Given the description of an element on the screen output the (x, y) to click on. 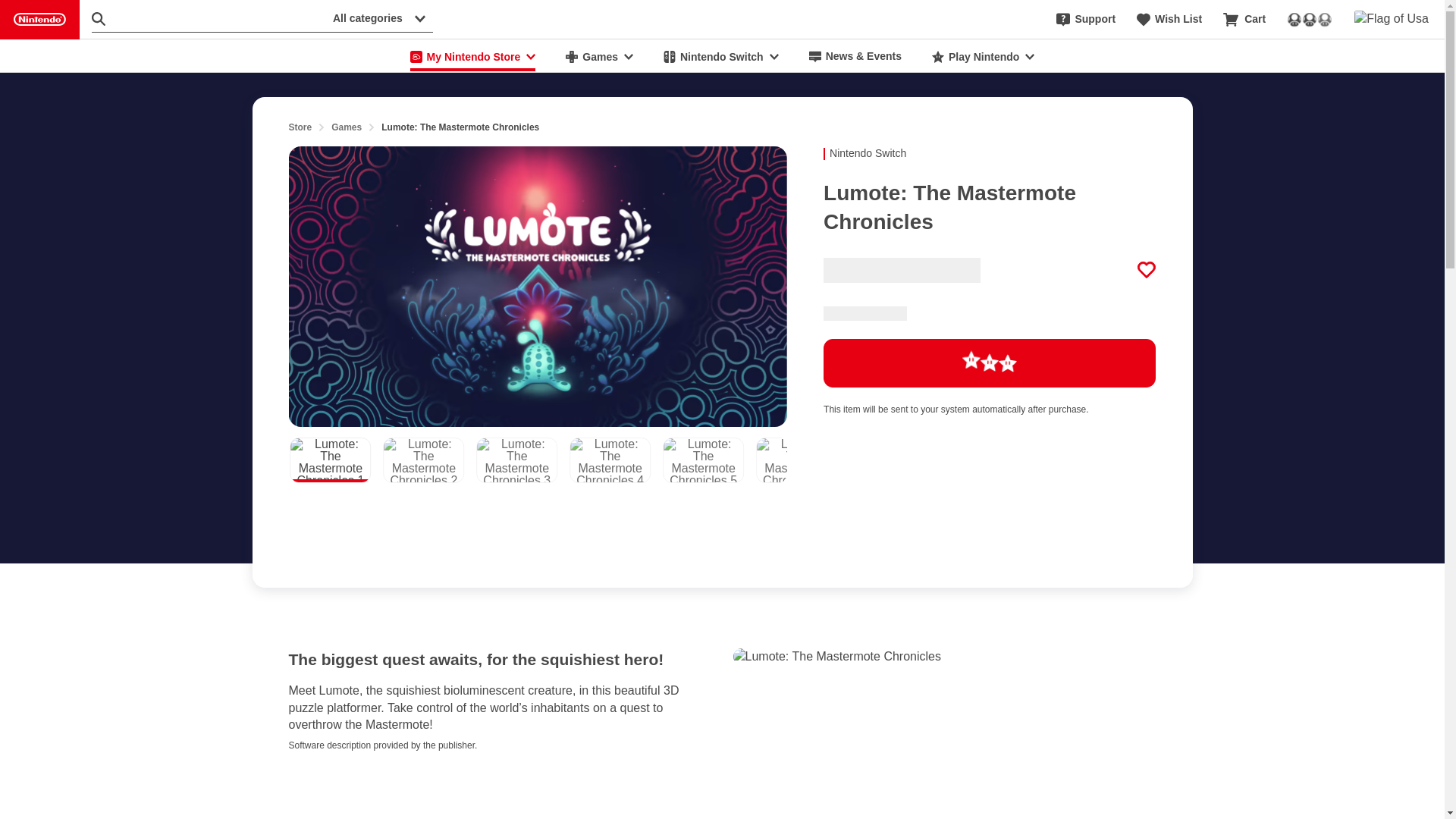
Games (346, 127)
Wish List (1169, 19)
Loading (990, 363)
Nintendo Switch (720, 56)
Games (599, 56)
Add to Wish List (1146, 270)
Play Nintendo (983, 56)
Store (299, 127)
Support (1086, 19)
Cart (1244, 19)
